Given the description of an element on the screen output the (x, y) to click on. 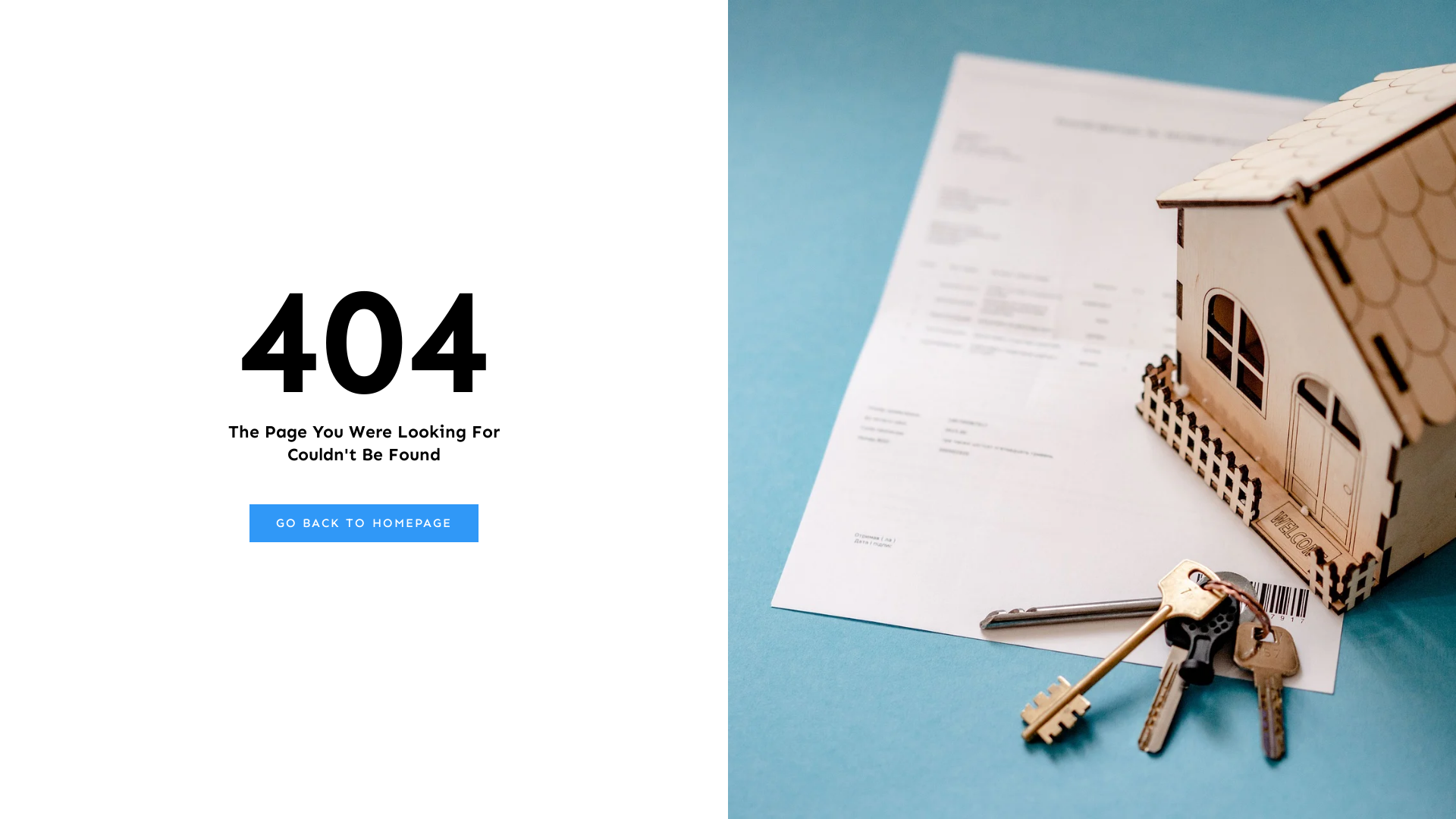
GO BACK TO HOMEPAGE Element type: text (364, 523)
